Given the description of an element on the screen output the (x, y) to click on. 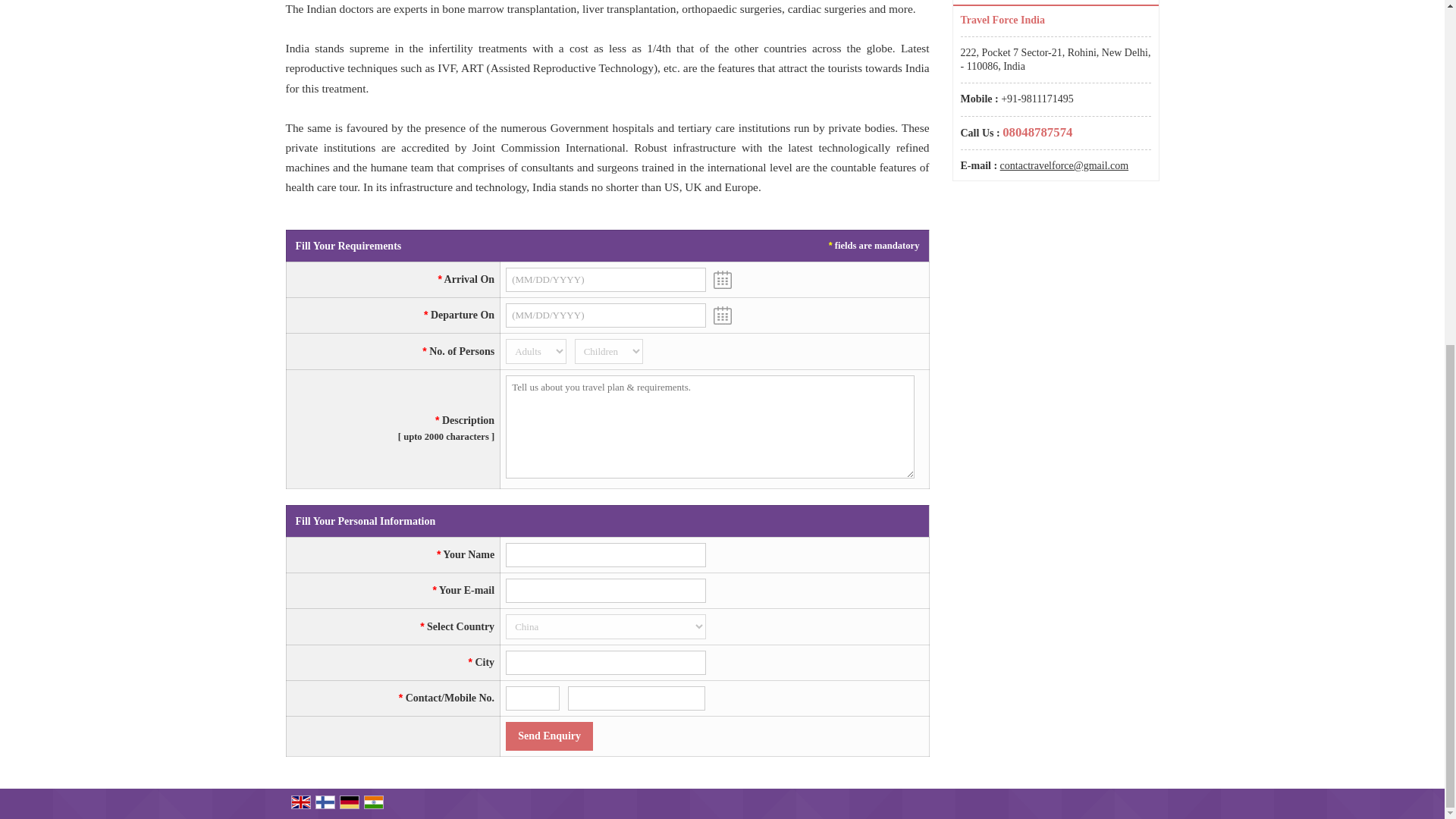
Send Enquiry (548, 736)
